Given the description of an element on the screen output the (x, y) to click on. 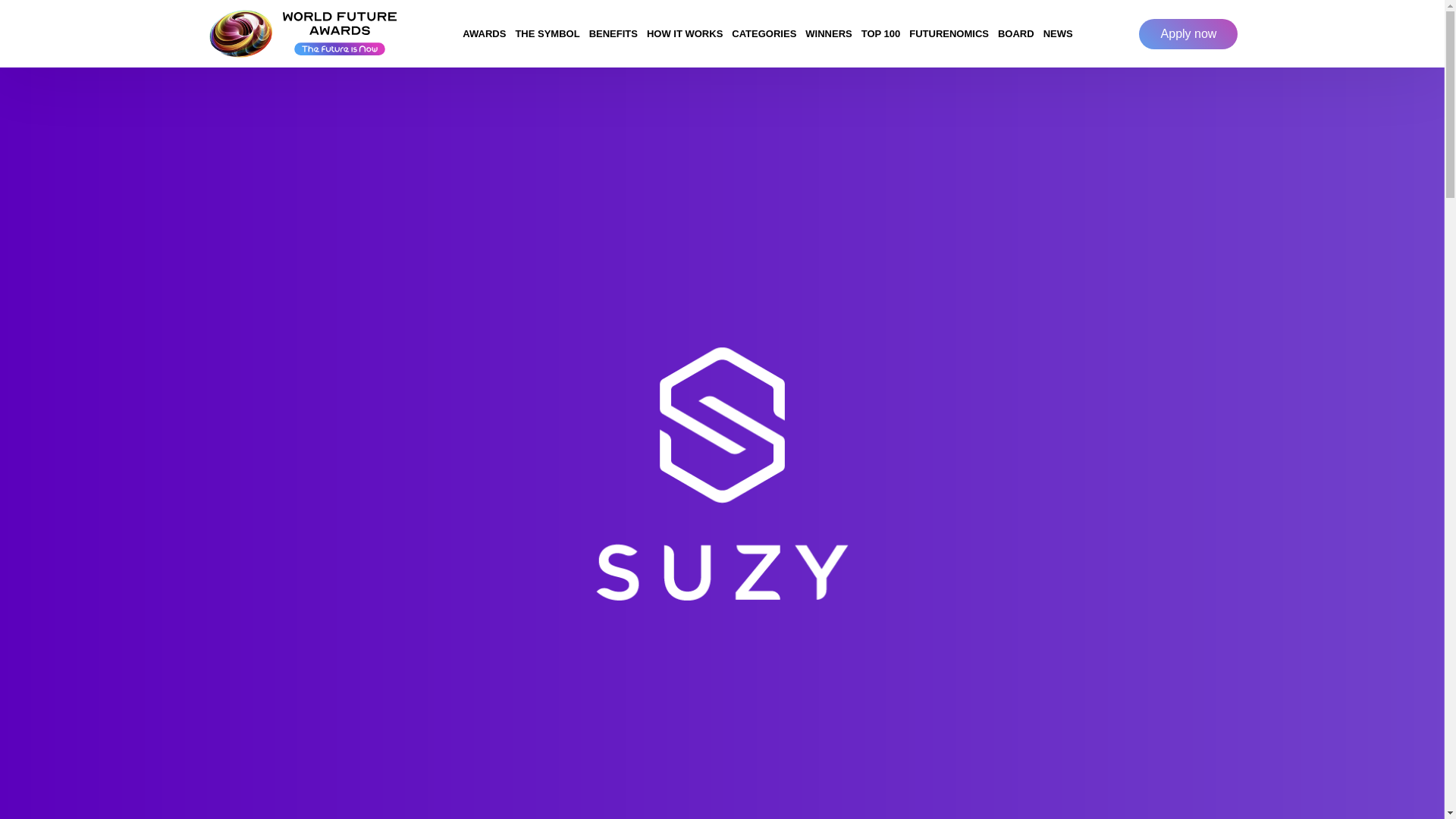
FUTURENOMICS (948, 33)
CATEGORIES (763, 33)
THE SYMBOL (547, 33)
Apply now (1187, 33)
HOW IT WORKS (684, 33)
